Given the description of an element on the screen output the (x, y) to click on. 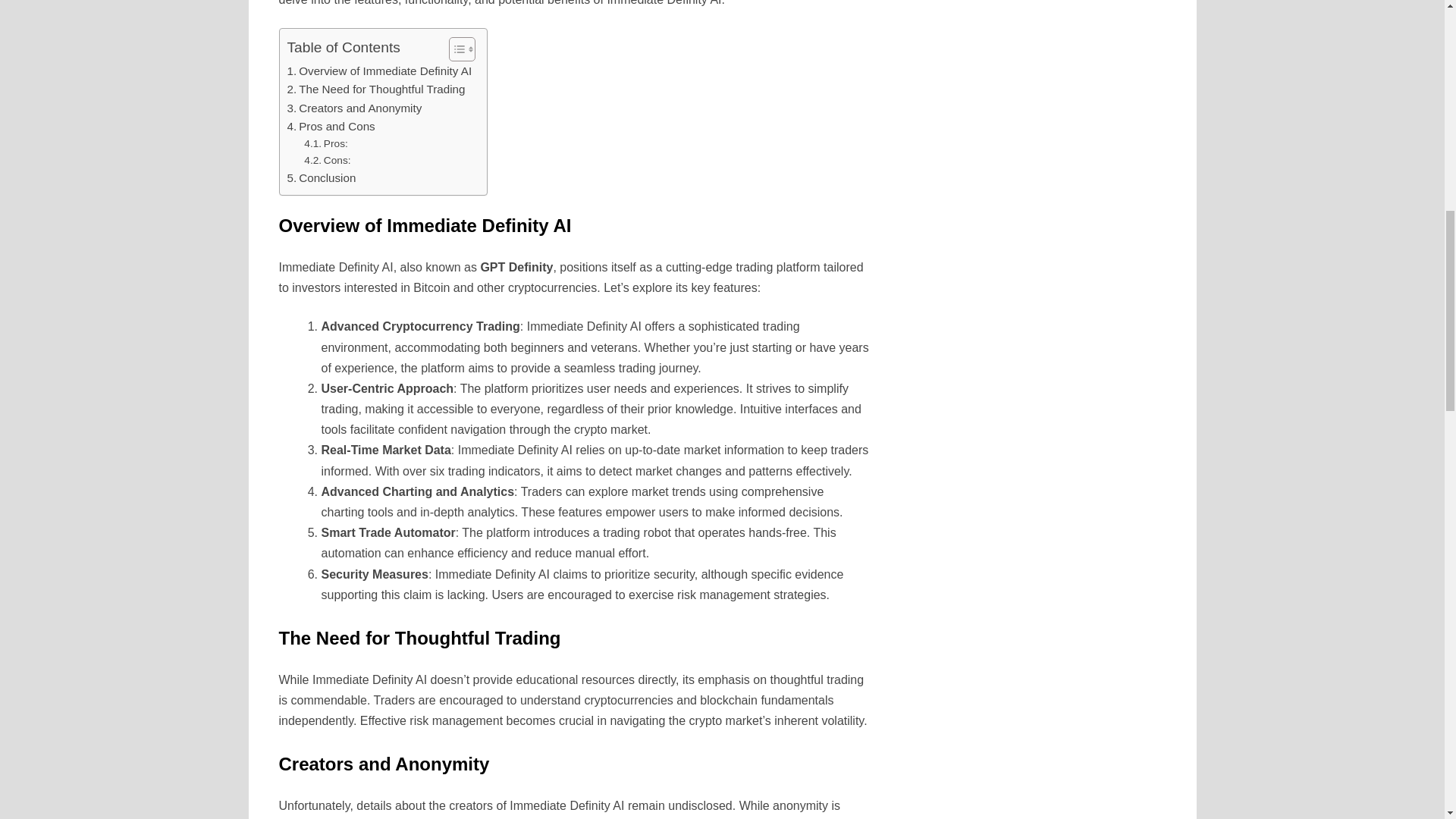
Overview of Immediate Definity AI (378, 71)
The Need for Thoughtful Trading (375, 89)
Cons: (327, 160)
Creators and Anonymity (354, 108)
Pros: (325, 143)
Pros and Cons (330, 126)
Conclusion (320, 177)
Pros: (325, 143)
Cons: (327, 160)
Pros and Cons (330, 126)
Creators and Anonymity (354, 108)
The Need for Thoughtful Trading (375, 89)
Overview of Immediate Definity AI (378, 71)
